Given the description of an element on the screen output the (x, y) to click on. 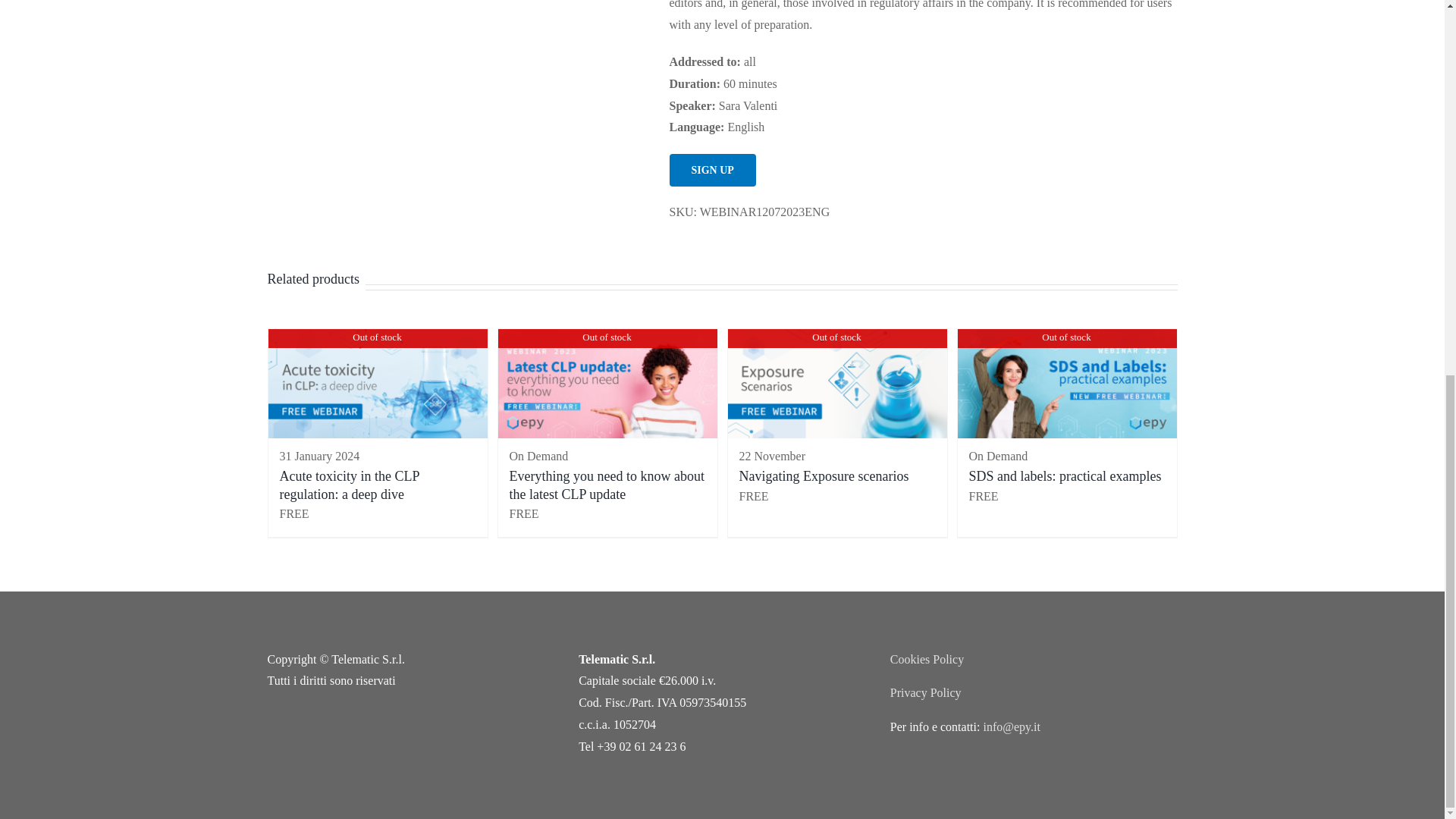
SIGN UP (711, 169)
